Given the description of an element on the screen output the (x, y) to click on. 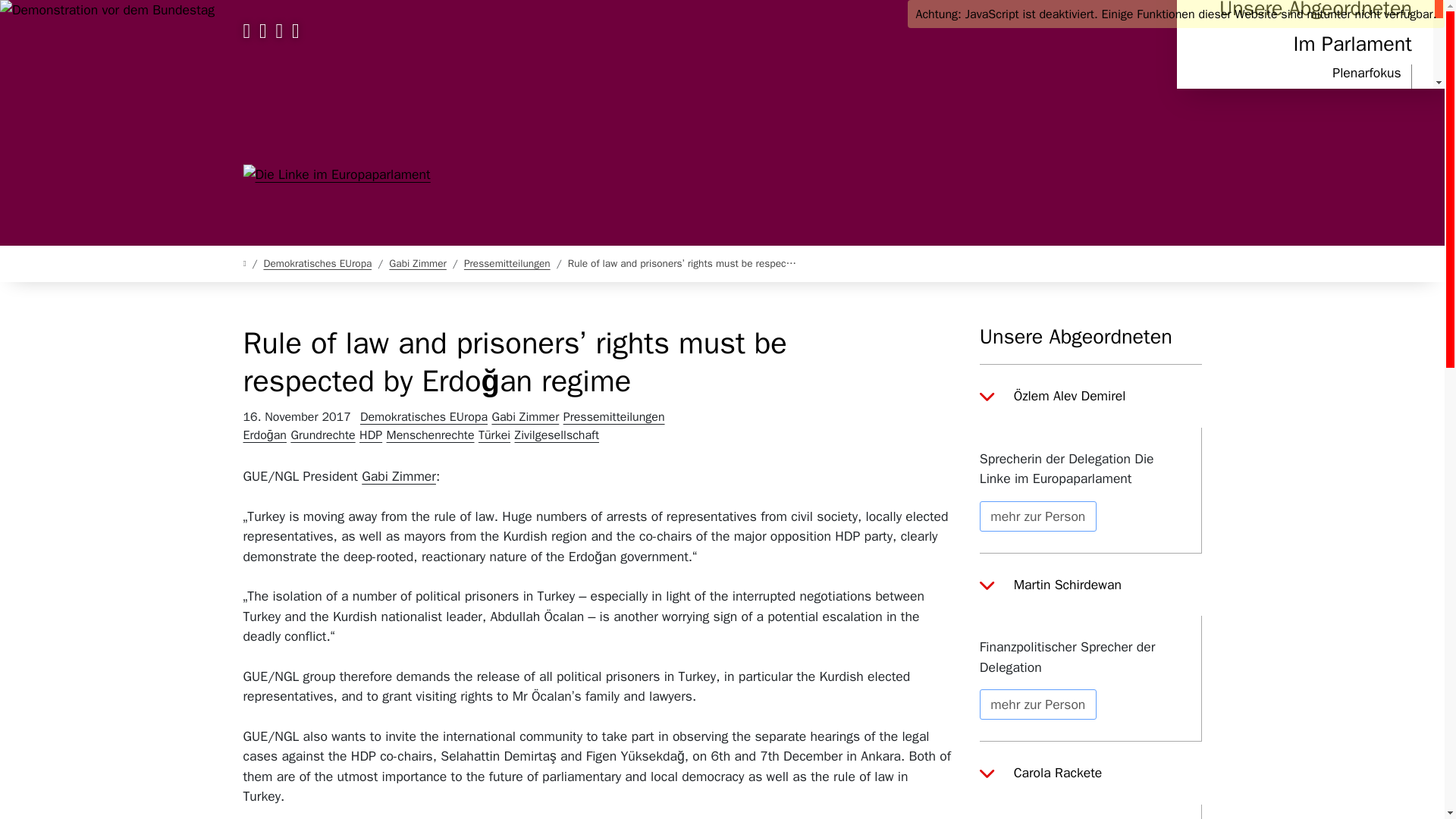
Menschenrechte (433, 435)
Gabi Zimmer (416, 263)
Demokratisches EUropa (425, 417)
Gabi Zimmer (527, 417)
Demokratisches EUropa (425, 417)
Pressemitteilungen (1344, 257)
Pressemitteilungen (507, 263)
Presse (1350, 229)
Demokratisches EUropa (317, 263)
Gabi Zimmer (527, 417)
